Given the description of an element on the screen output the (x, y) to click on. 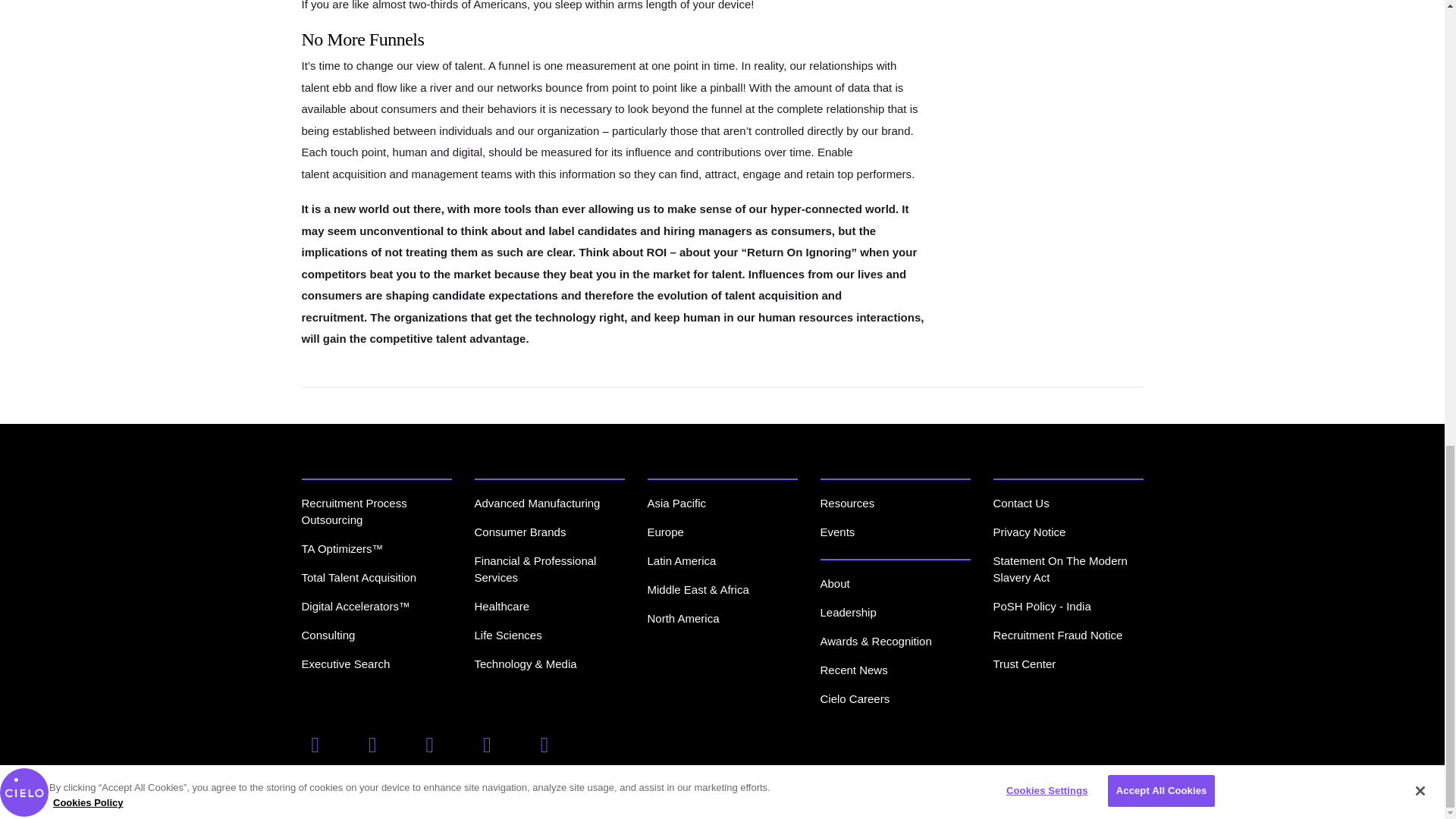
North America (683, 617)
Consulting (328, 634)
Advanced Manufacturing (536, 502)
PoSH Policy - India (1041, 605)
Executive Search (345, 663)
YouTube (547, 744)
Asia Pacific (676, 502)
Privacy Notice (1028, 531)
Contact Us (1020, 502)
Resources (848, 502)
LinkedIn (433, 744)
Facebook (317, 744)
Latin America (681, 560)
Recent News (854, 669)
About (835, 583)
